Given the description of an element on the screen output the (x, y) to click on. 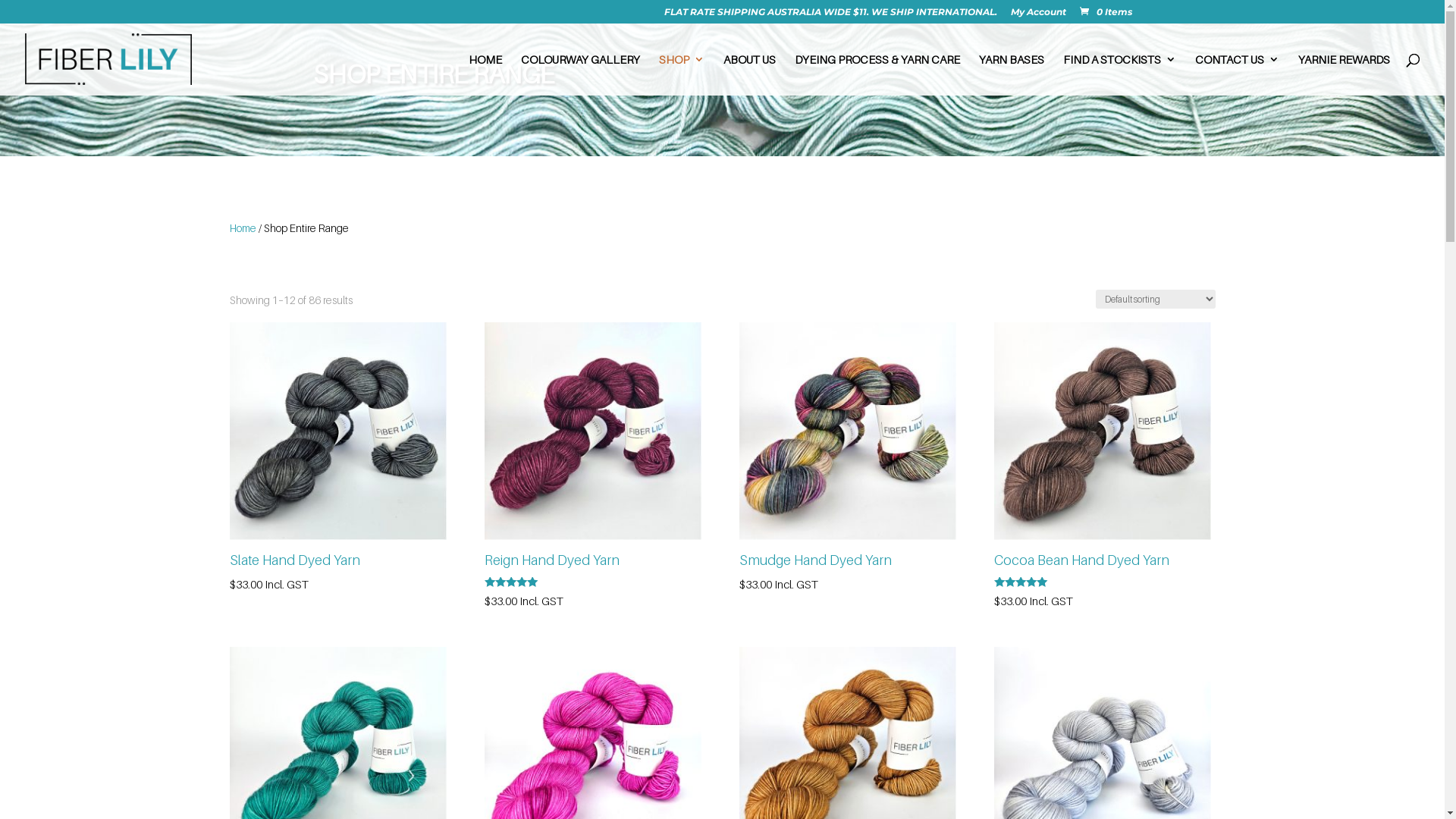
YARNIE REWARDS Element type: text (1344, 74)
COLOURWAY GALLERY Element type: text (580, 74)
Cocoa Bean Hand Dyed Yarn
Rated
out of 5
$33.00 Incl. GST Element type: text (1102, 465)
My Account Element type: text (1037, 15)
Smudge Hand Dyed Yarn
$33.00 Incl. GST Element type: text (848, 457)
0 Items Element type: text (1103, 11)
DYEING PROCESS & YARN CARE Element type: text (877, 74)
Home Element type: text (242, 227)
CONTACT US Element type: text (1237, 74)
HOME Element type: text (485, 74)
Slate Hand Dyed Yarn
$33.00 Incl. GST Element type: text (337, 457)
ABOUT US Element type: text (749, 74)
FIND A STOCKISTS Element type: text (1119, 74)
YARN BASES Element type: text (1011, 74)
Reign Hand Dyed Yarn
Rated
out of 5
$33.00 Incl. GST Element type: text (593, 465)
SHOP Element type: text (681, 74)
